Given the description of an element on the screen output the (x, y) to click on. 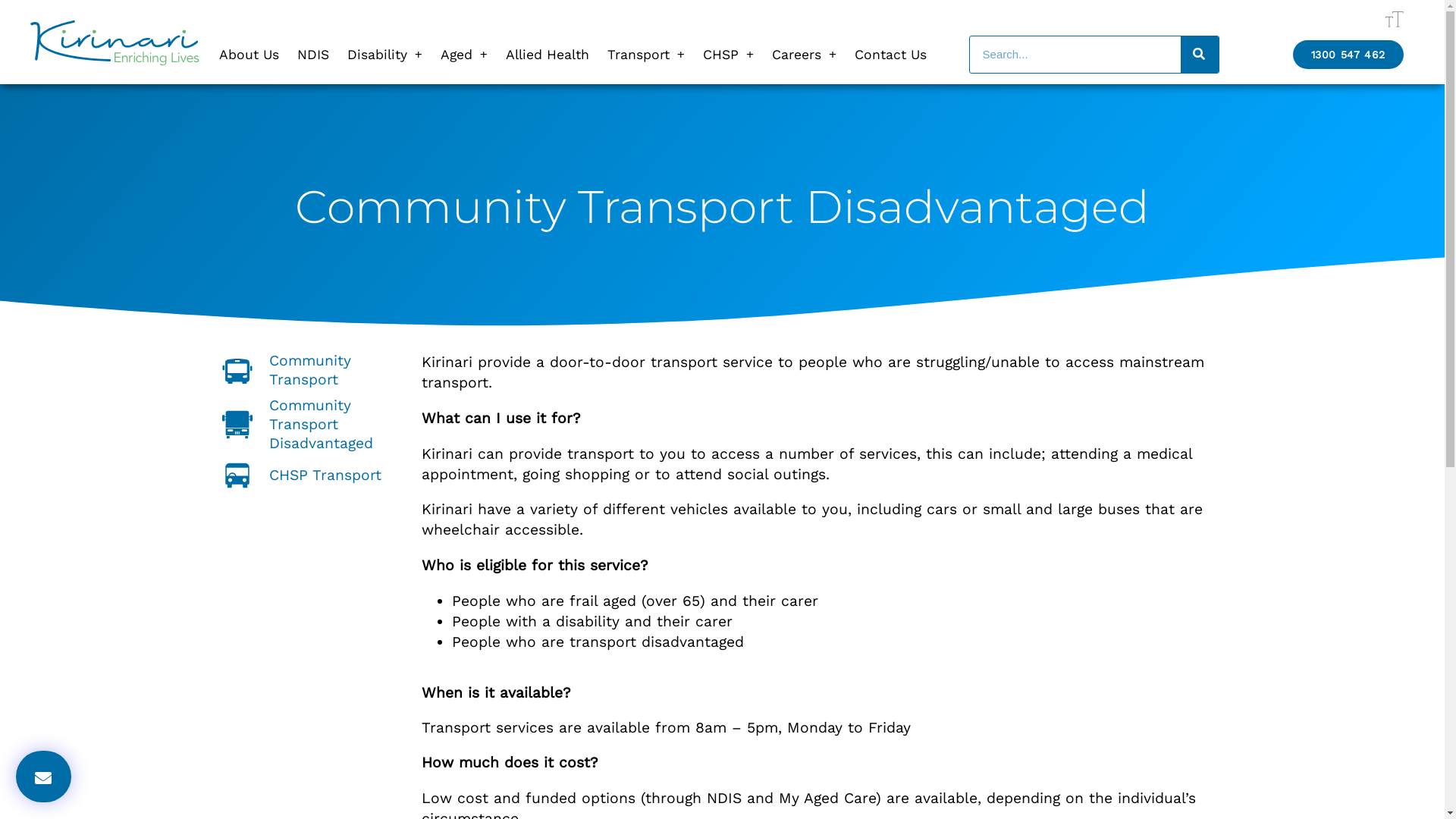
1300 547 462 Element type: text (1347, 54)
About Us Element type: text (249, 54)
Search Element type: hover (1074, 54)
Aged Element type: text (463, 54)
Community Transport Disadvantaged Element type: text (313, 424)
NDIS Element type: text (313, 54)
CHSP Transport Element type: text (313, 475)
Allied Health Element type: text (547, 54)
Contact Us Element type: text (890, 54)
Community Transport Element type: text (313, 370)
CHSP Element type: text (727, 54)
Search Element type: hover (1199, 54)
Transport Element type: text (645, 54)
Disability Element type: text (384, 54)
Careers Element type: text (803, 54)
